Given the description of an element on the screen output the (x, y) to click on. 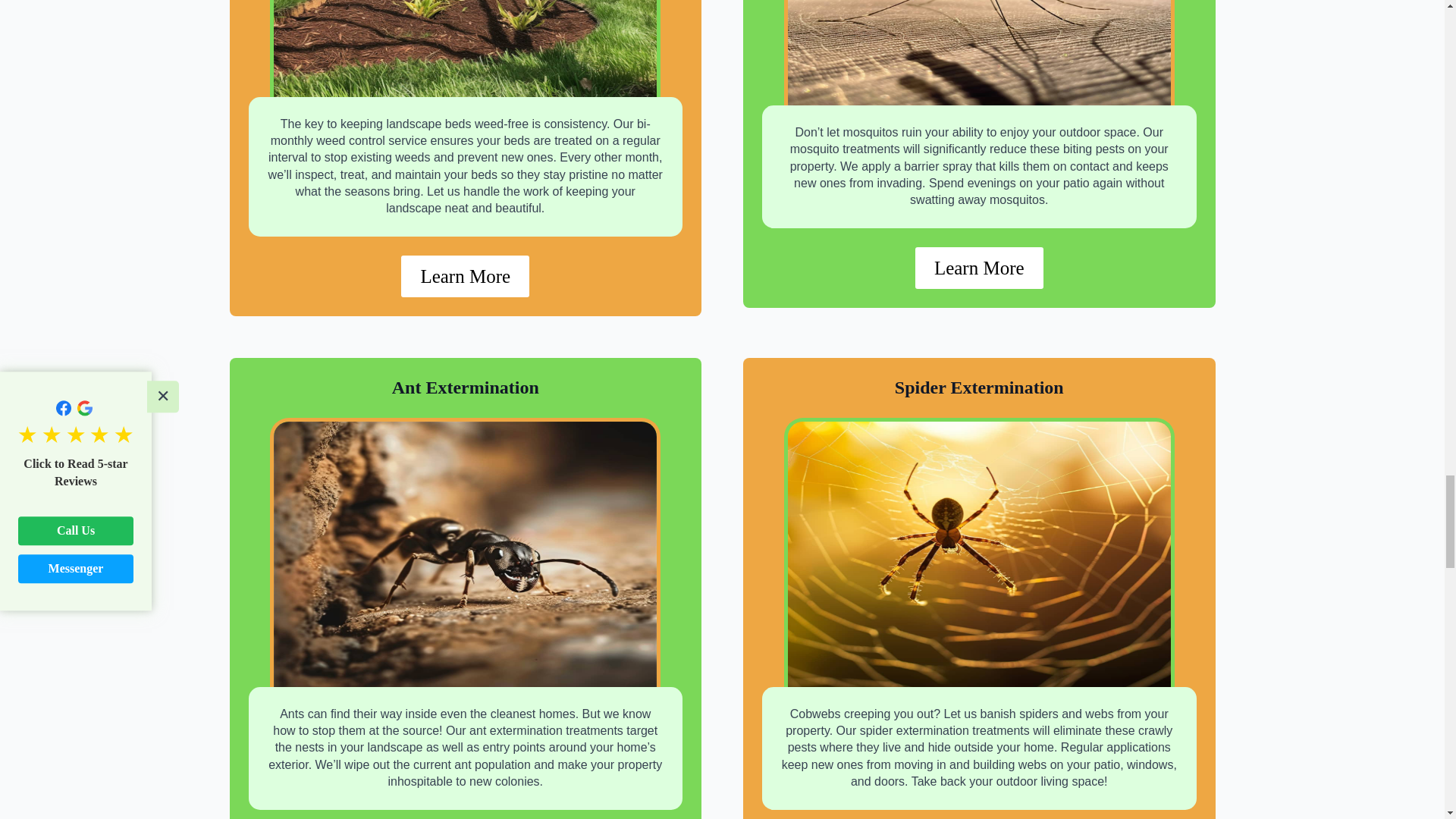
Learn More (465, 276)
Learn More (979, 268)
